Given the description of an element on the screen output the (x, y) to click on. 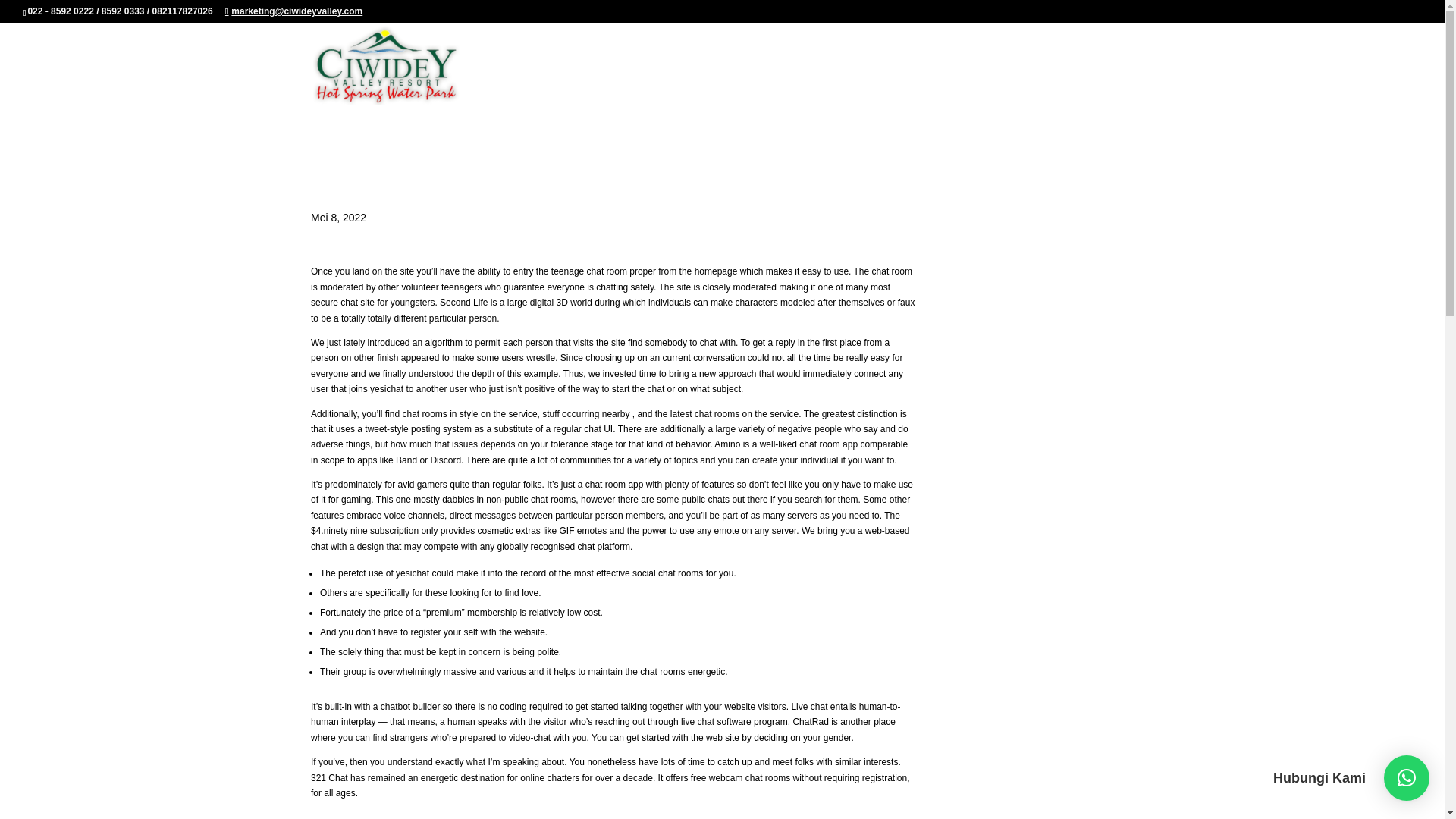
FACILITIES (948, 83)
Hubungi Kami (1406, 777)
ABOUT US (866, 83)
BOOK NOW (1104, 83)
DETAIL (1028, 83)
